Given the description of an element on the screen output the (x, y) to click on. 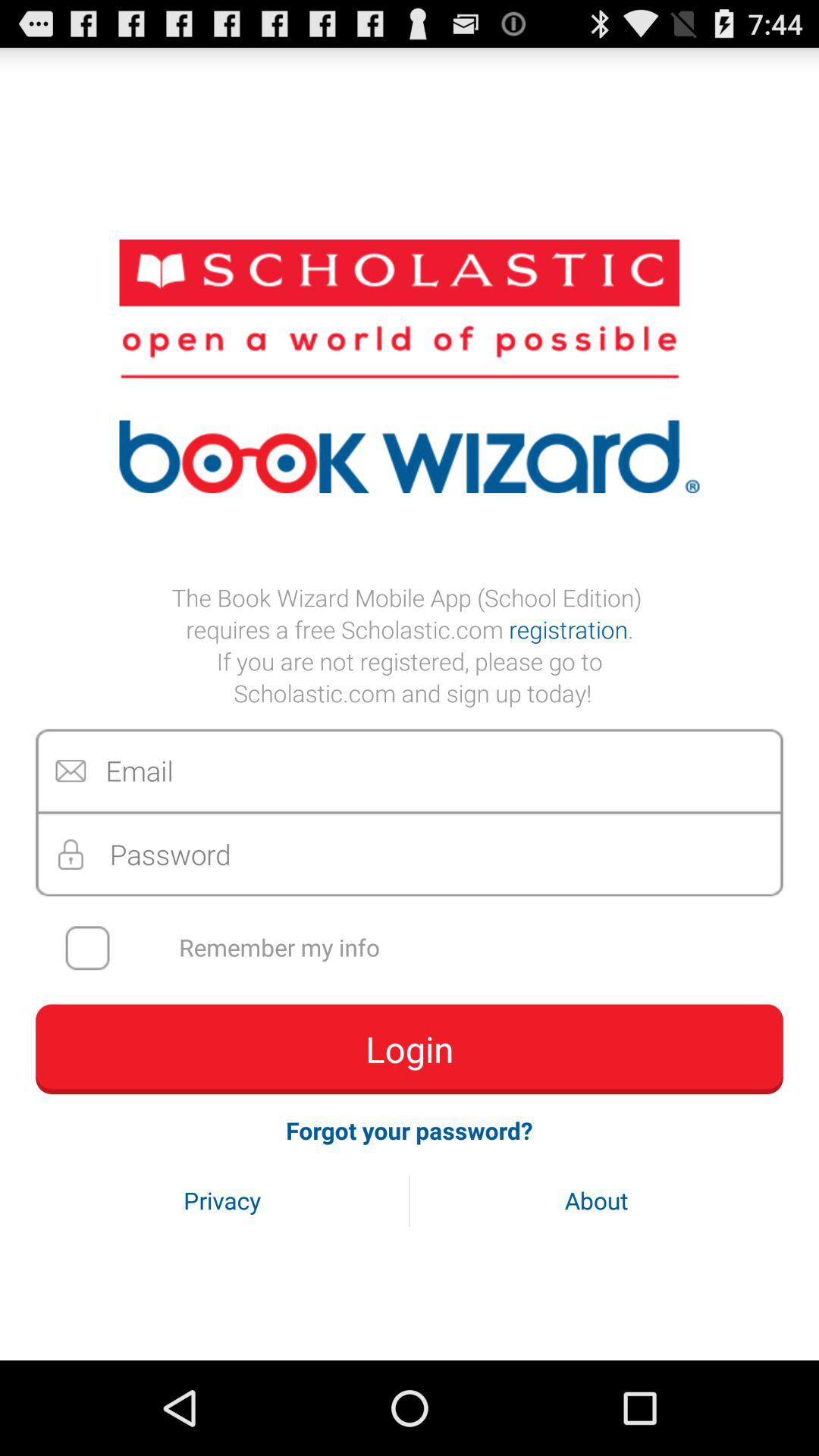
press the icon below the forgot your password? icon (221, 1200)
